Given the description of an element on the screen output the (x, y) to click on. 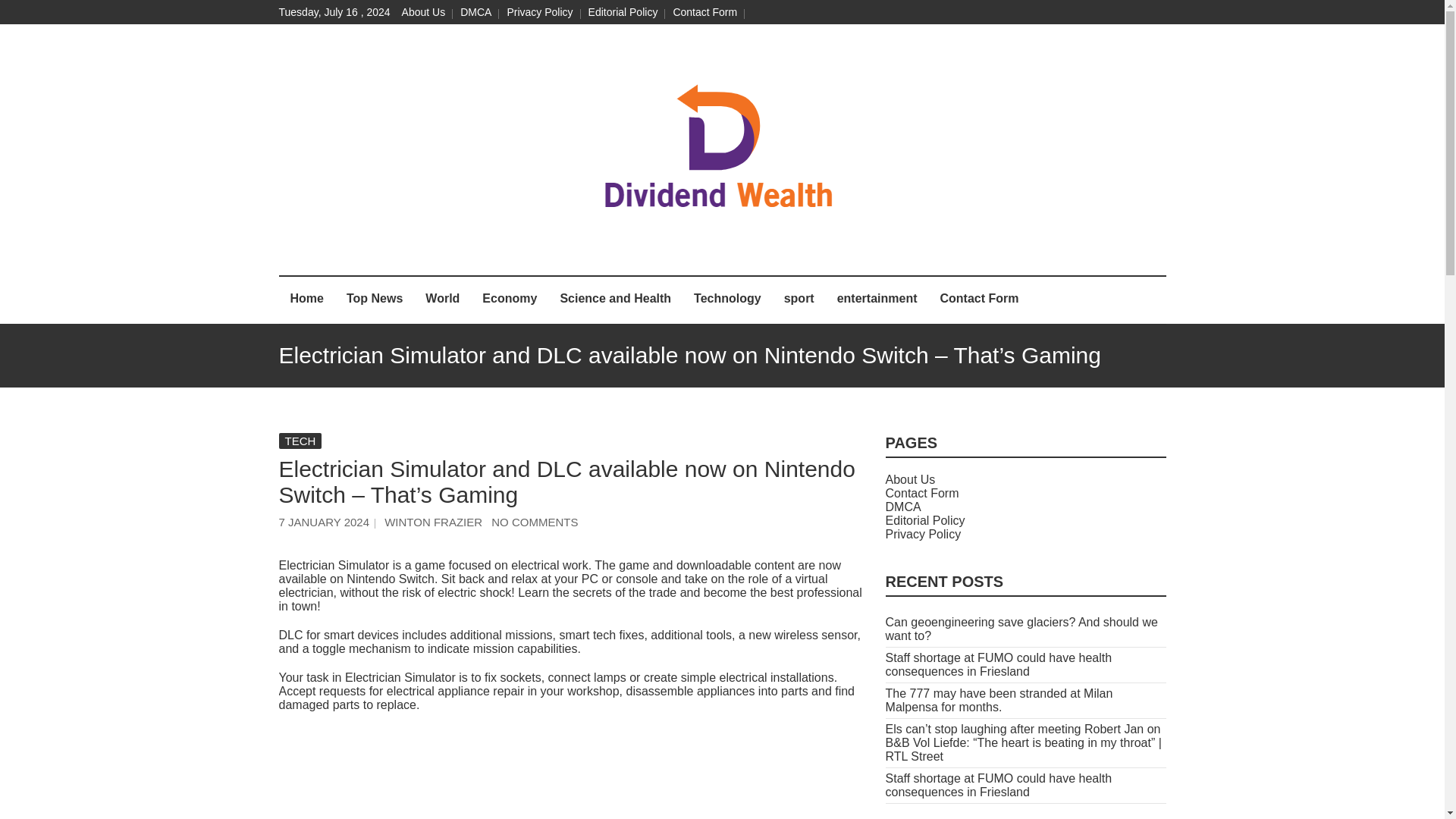
About Us (423, 11)
Contact Form (978, 299)
Dividend Wealth (525, 251)
Home (306, 299)
WINTON FRAZIER (432, 521)
entertainment (876, 299)
Contact Form (922, 492)
Dividend Wealth (525, 251)
World (441, 299)
Science and Health (615, 299)
DMCA (476, 11)
7 JANUARY 2024 (324, 521)
Privacy Policy (539, 11)
TECH (300, 440)
DMCA (903, 506)
